Given the description of an element on the screen output the (x, y) to click on. 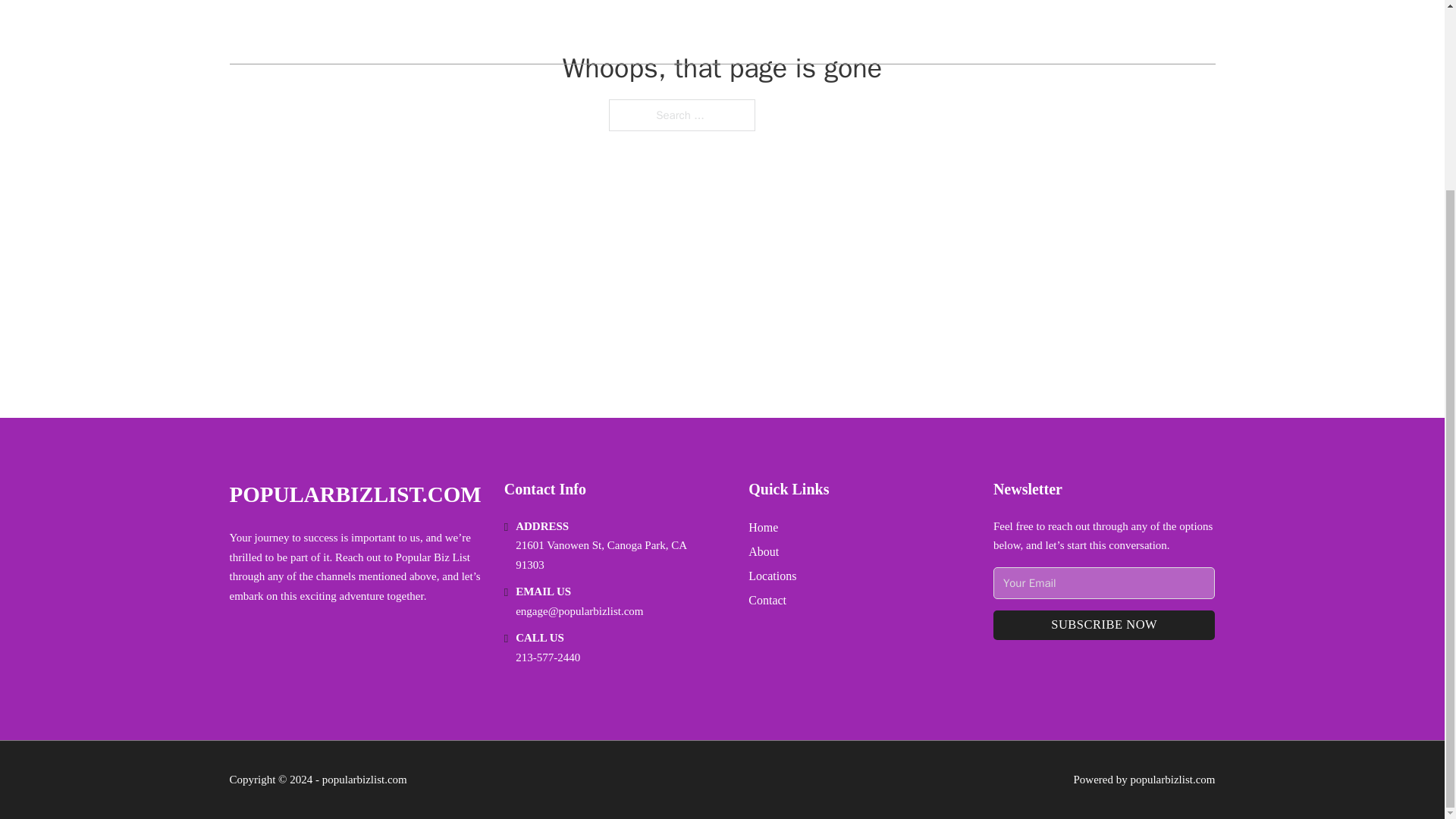
Locations (772, 575)
Contact (767, 599)
POPULARBIZLIST.COM (354, 494)
SUBSCRIBE NOW (1103, 624)
213-577-2440 (547, 657)
Home (762, 526)
About (763, 551)
